Given the description of an element on the screen output the (x, y) to click on. 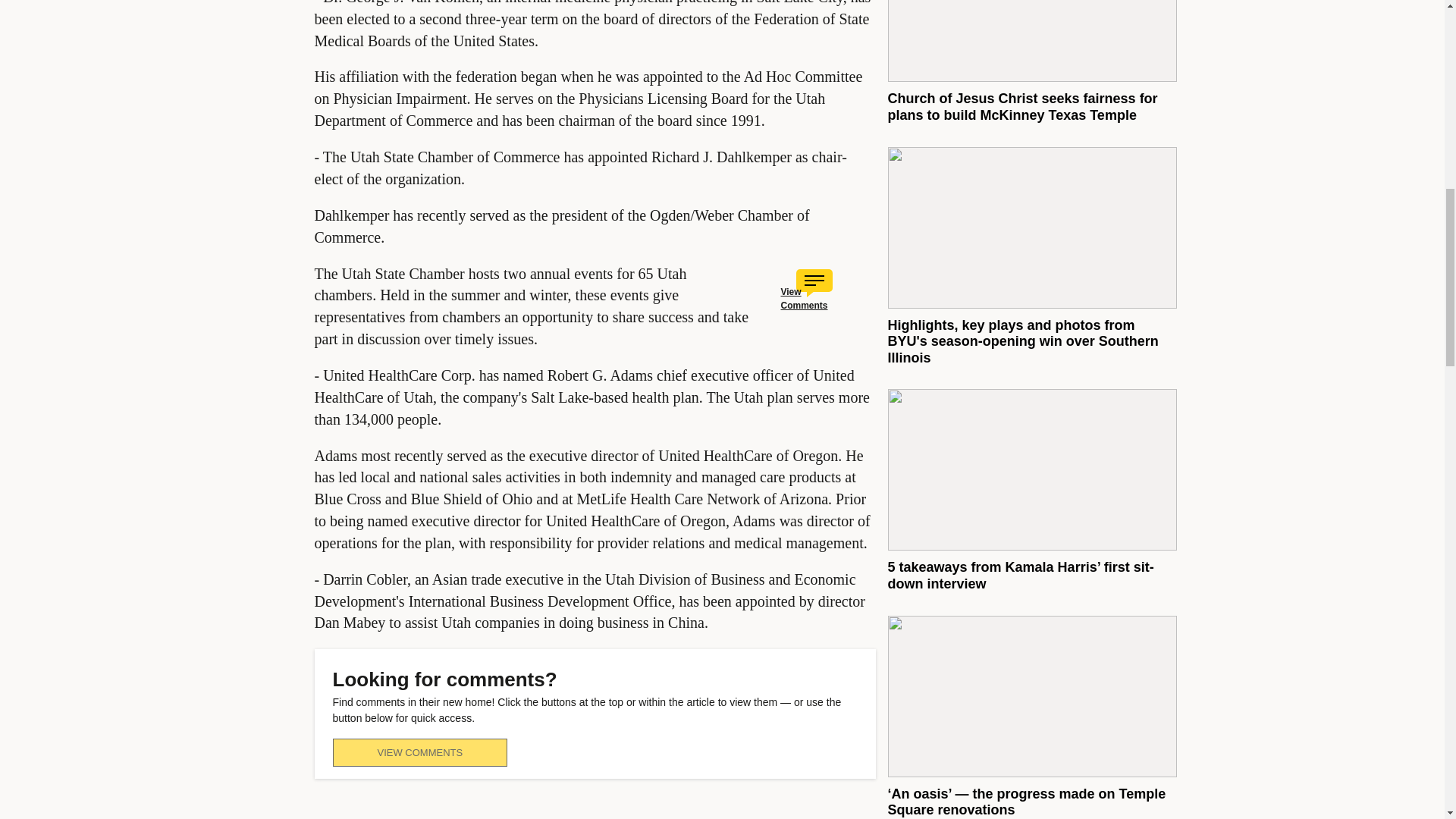
VIEW COMMENTS (418, 752)
